Given the description of an element on the screen output the (x, y) to click on. 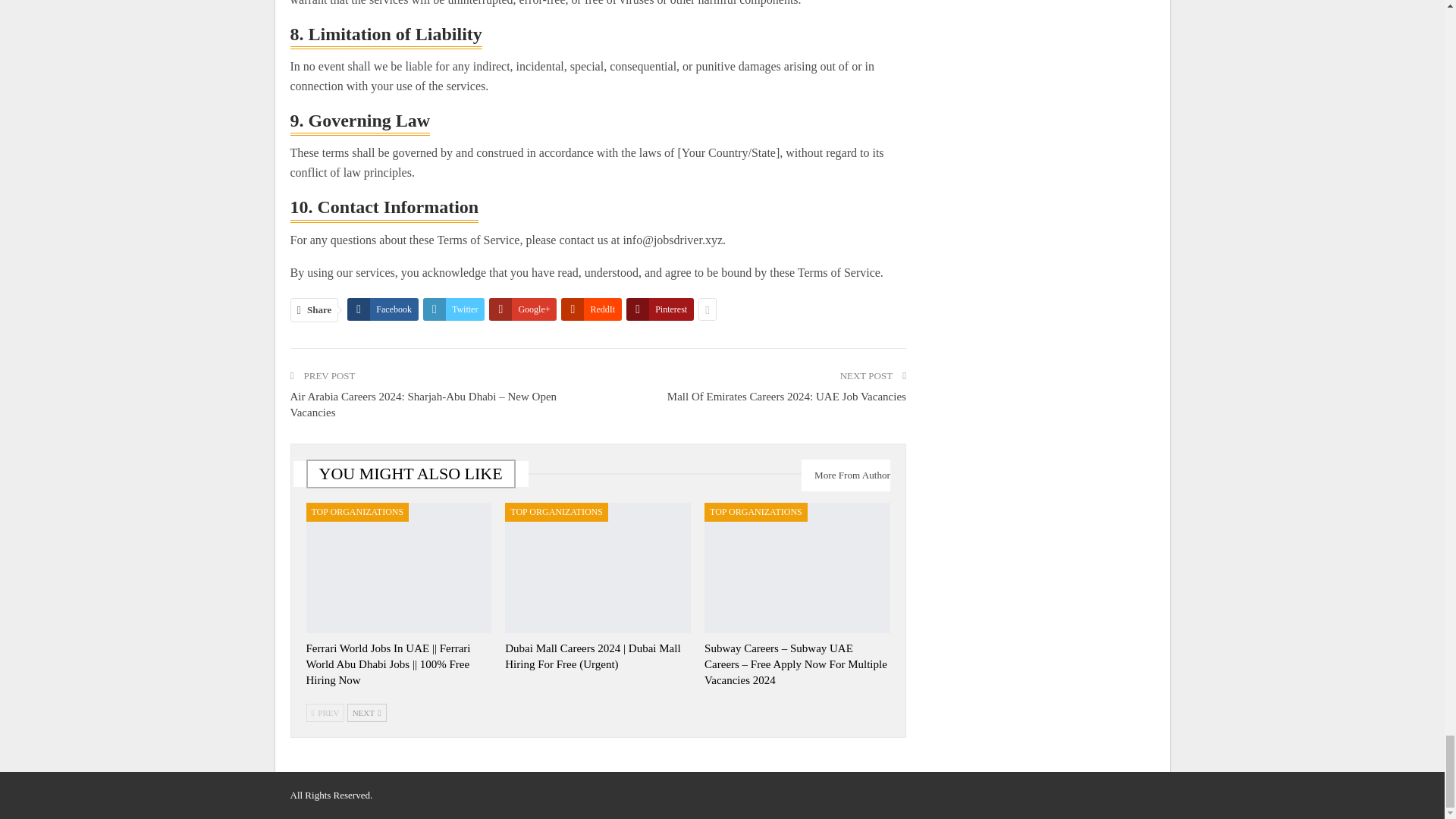
Next (367, 712)
Previous (325, 712)
